Given the description of an element on the screen output the (x, y) to click on. 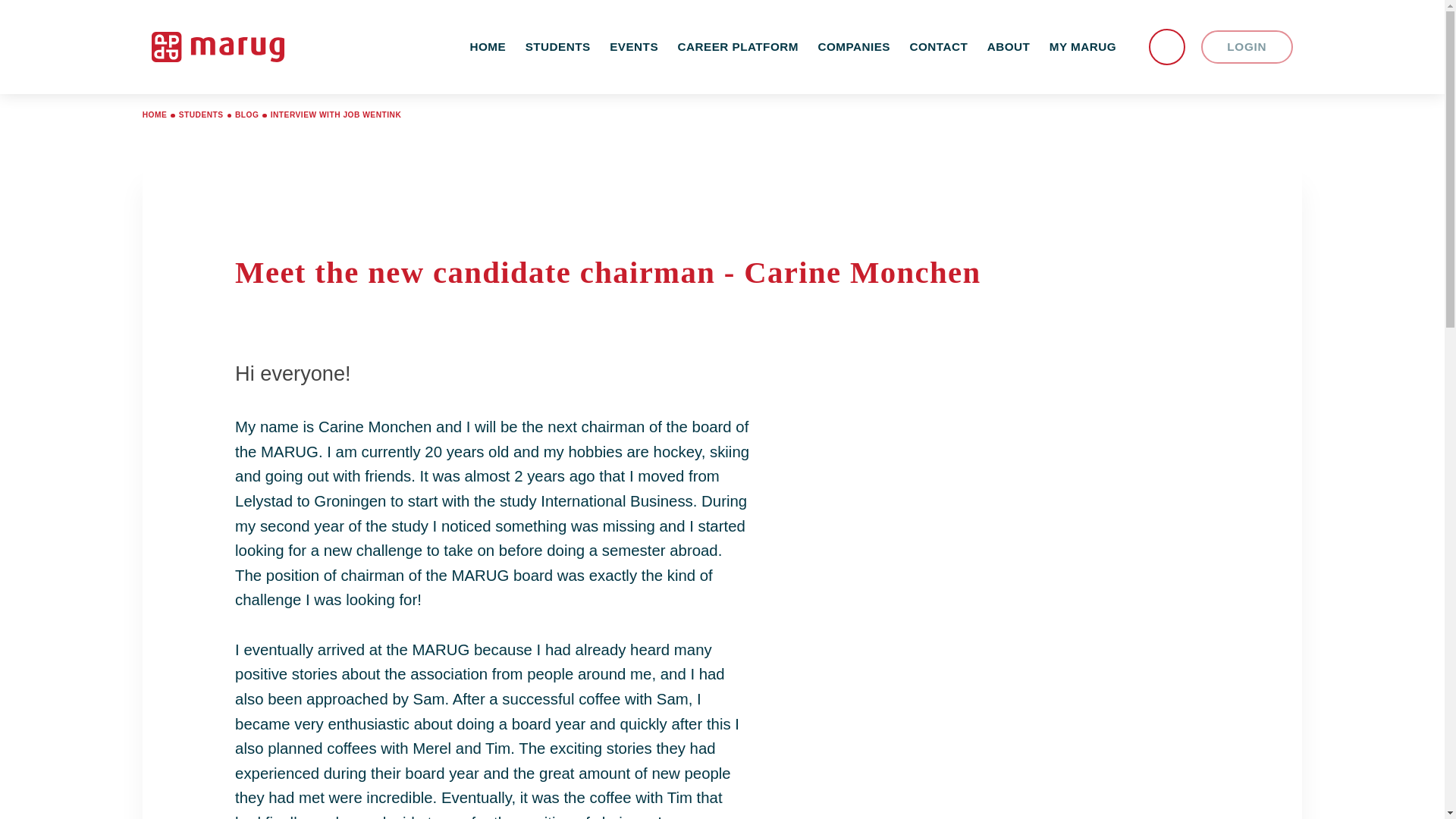
CAREER PLATFORM (738, 46)
COMPANIES (853, 46)
ABOUT (1007, 46)
CONTACT (937, 46)
EVENTS (632, 46)
STUDENTS (557, 46)
